Given the description of an element on the screen output the (x, y) to click on. 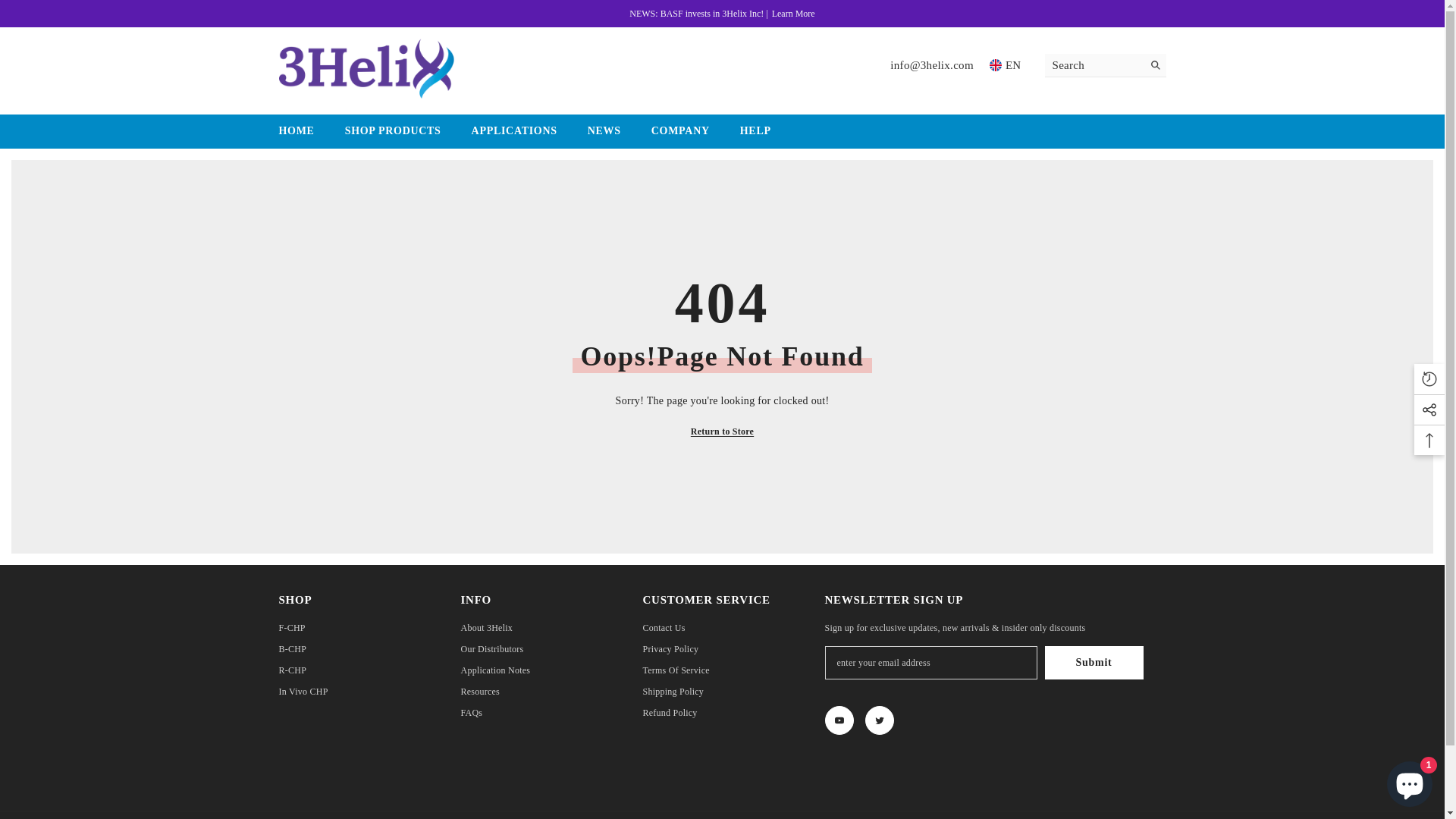
B-CHP Element type: text (293, 648)
Refund Policy Element type: text (670, 712)
FAQs Element type: text (472, 712)
NEWS Element type: text (604, 135)
About 3Helix Element type: text (487, 627)
Terms Of Service Element type: text (676, 669)
Return to Store Element type: text (721, 431)
Shopify online store chat Element type: hover (1409, 780)
Shipping Policy Element type: text (673, 691)
APPLICATIONS Element type: text (514, 135)
HELP Element type: text (755, 135)
Our Distributors Element type: text (492, 648)
Application Notes Element type: text (495, 669)
Twitter Element type: text (878, 720)
R-CHP Element type: text (293, 669)
Resources Element type: text (480, 691)
Submit Element type: text (1093, 662)
In Vivo CHP Element type: text (303, 691)
Learn More Element type: text (793, 13)
HOME Element type: text (296, 135)
Privacy Policy Element type: text (671, 648)
SHOP PRODUCTS Element type: text (392, 135)
COMPANY Element type: text (680, 135)
YouTube Element type: text (839, 720)
Contact Us Element type: text (664, 627)
F-CHP Element type: text (292, 627)
EN Element type: text (1007, 65)
